Given the description of an element on the screen output the (x, y) to click on. 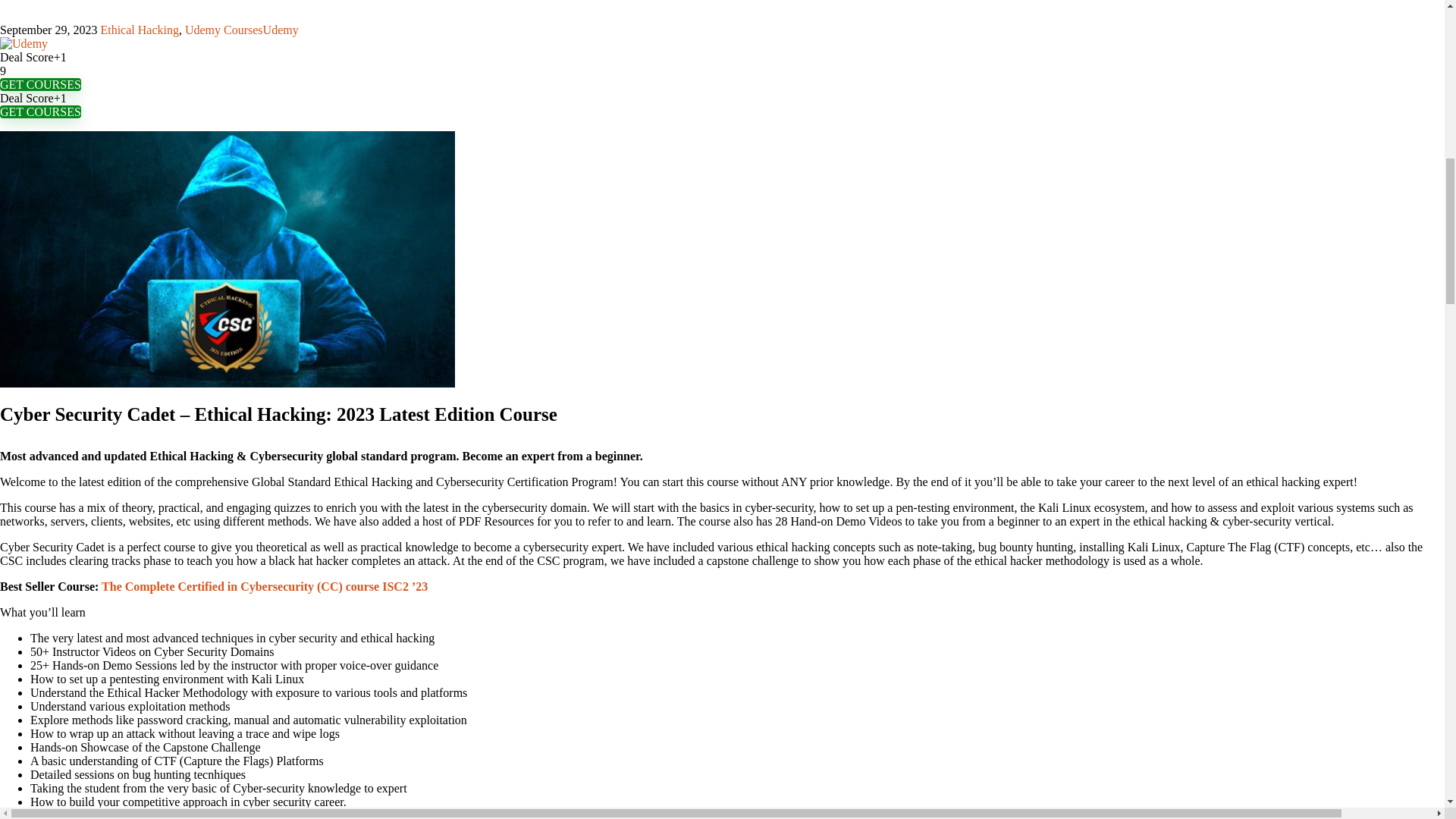
View all posts in Udemy Courses (223, 29)
View all posts in Ethical Hacking (139, 29)
